Given the description of an element on the screen output the (x, y) to click on. 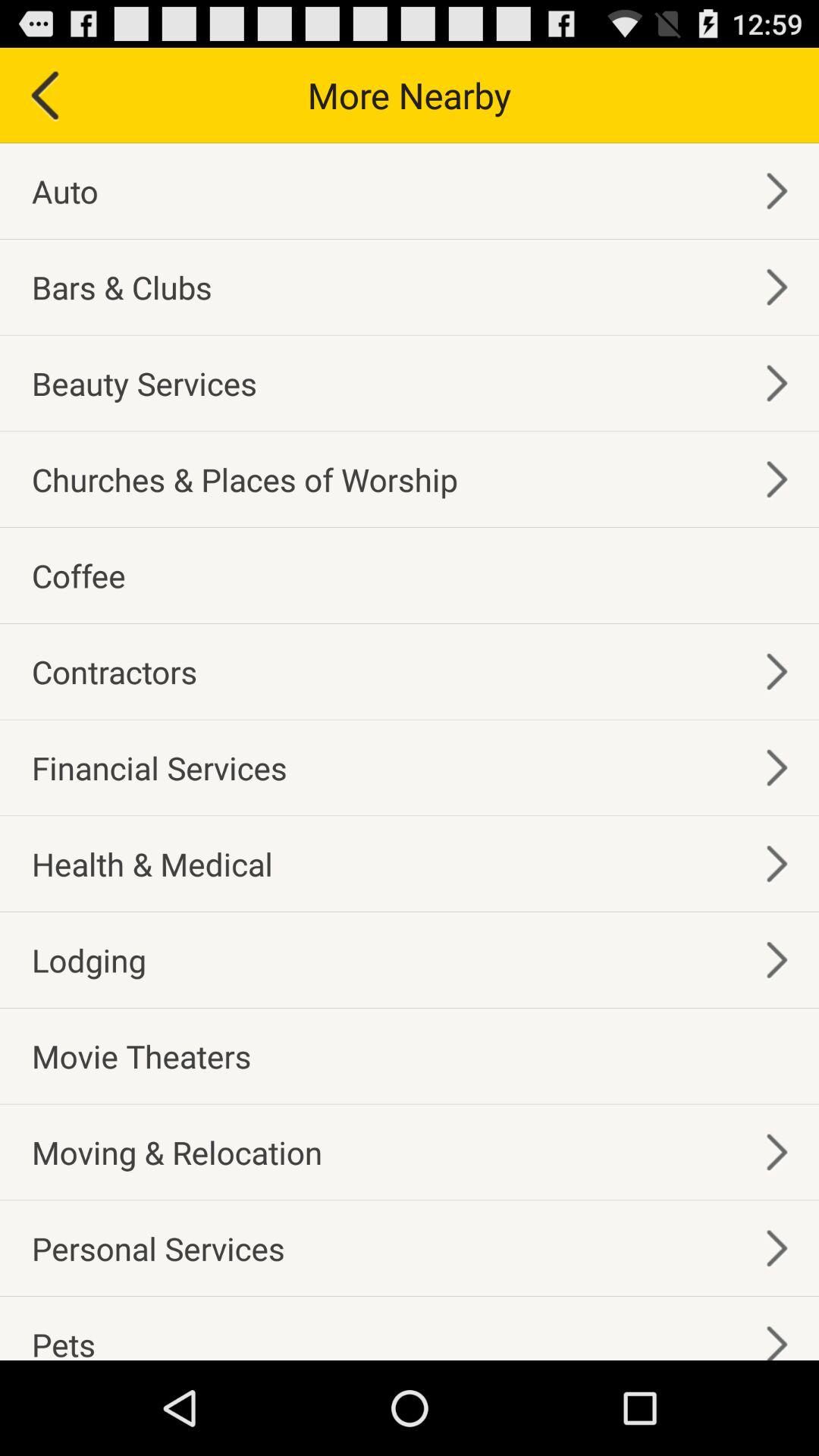
turn on the item below moving & relocation icon (157, 1248)
